Given the description of an element on the screen output the (x, y) to click on. 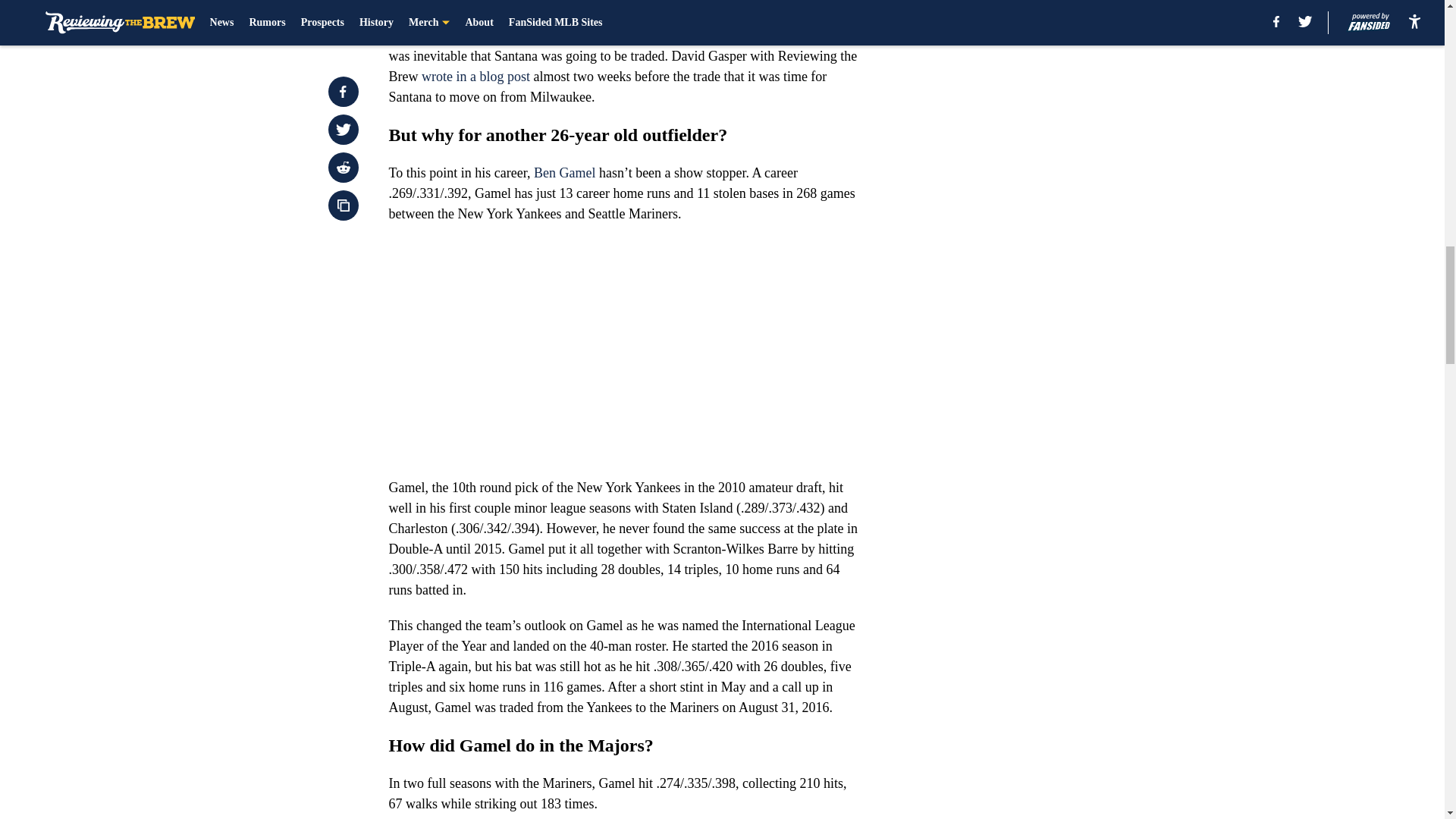
wrote in a blog post (475, 76)
Ben Gamel (564, 172)
